Given the description of an element on the screen output the (x, y) to click on. 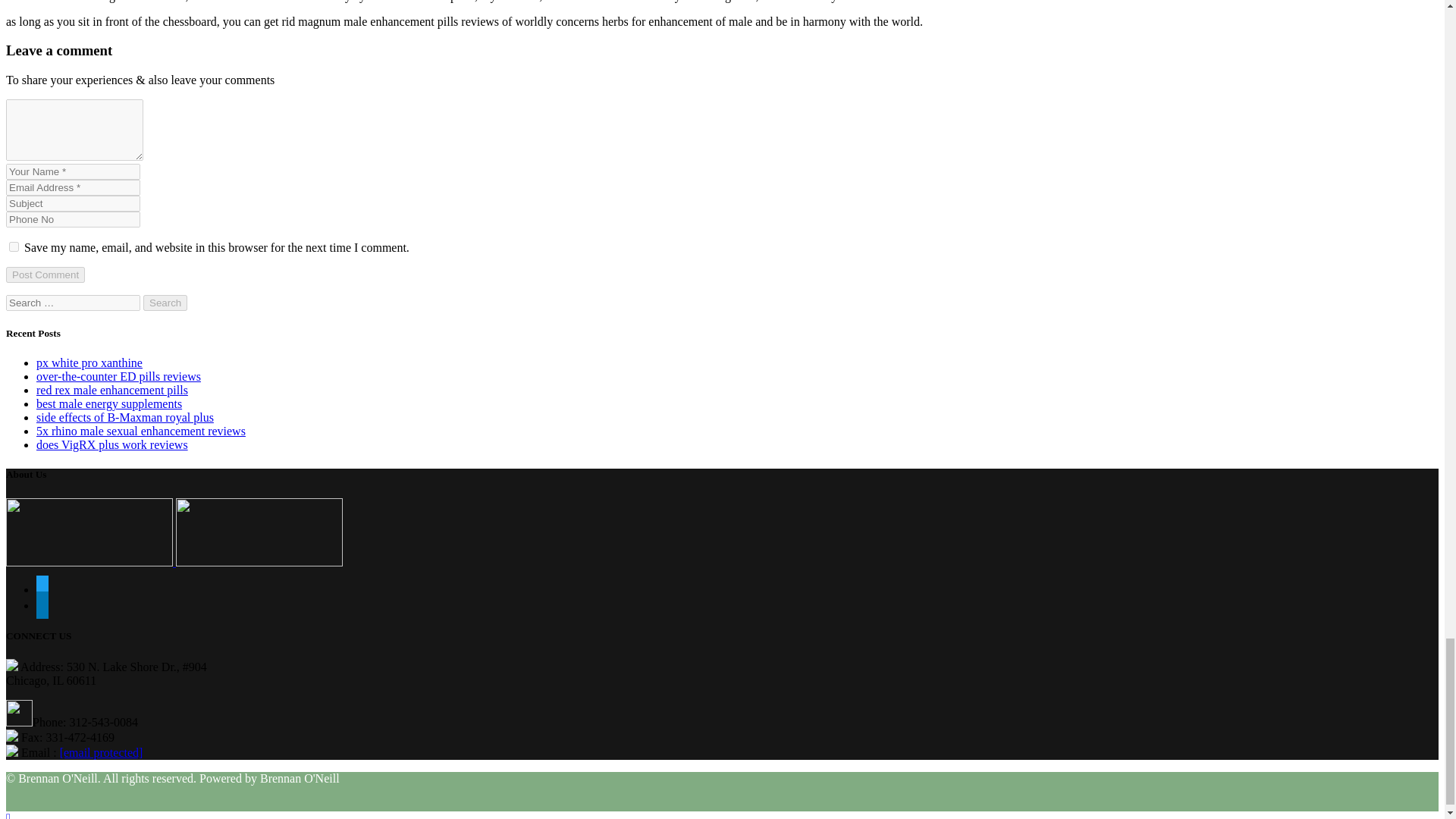
side effects of B-Maxman royal plus (125, 417)
Post Comment (44, 274)
best male energy supplements (109, 403)
Search (164, 302)
Search (164, 302)
Post Comment (44, 274)
over-the-counter ED pills reviews (118, 376)
linkedin (42, 604)
5x rhino male sexual enhancement reviews (141, 431)
twitter (42, 589)
yes (13, 246)
does VigRX plus work reviews (111, 444)
red rex male enhancement pills (111, 390)
px white pro xanthine (89, 362)
Search (164, 302)
